Given the description of an element on the screen output the (x, y) to click on. 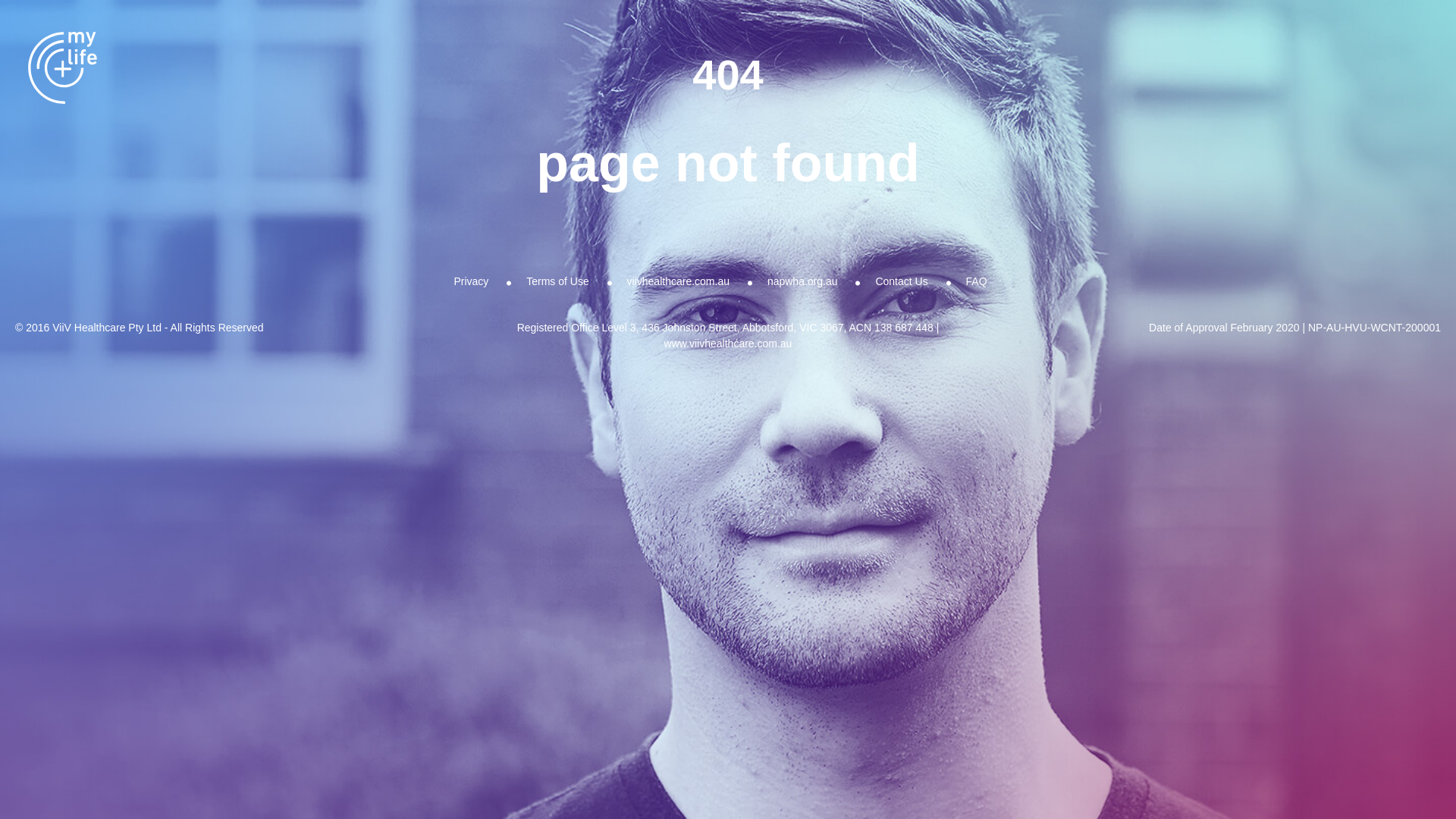
viivhealthcare.com.au Element type: text (678, 281)
napwha.org.au Element type: text (802, 281)
Privacy Element type: text (470, 281)
Contact Us Element type: text (901, 281)
FAQ Element type: text (976, 281)
Terms of Use Element type: text (557, 281)
